Given the description of an element on the screen output the (x, y) to click on. 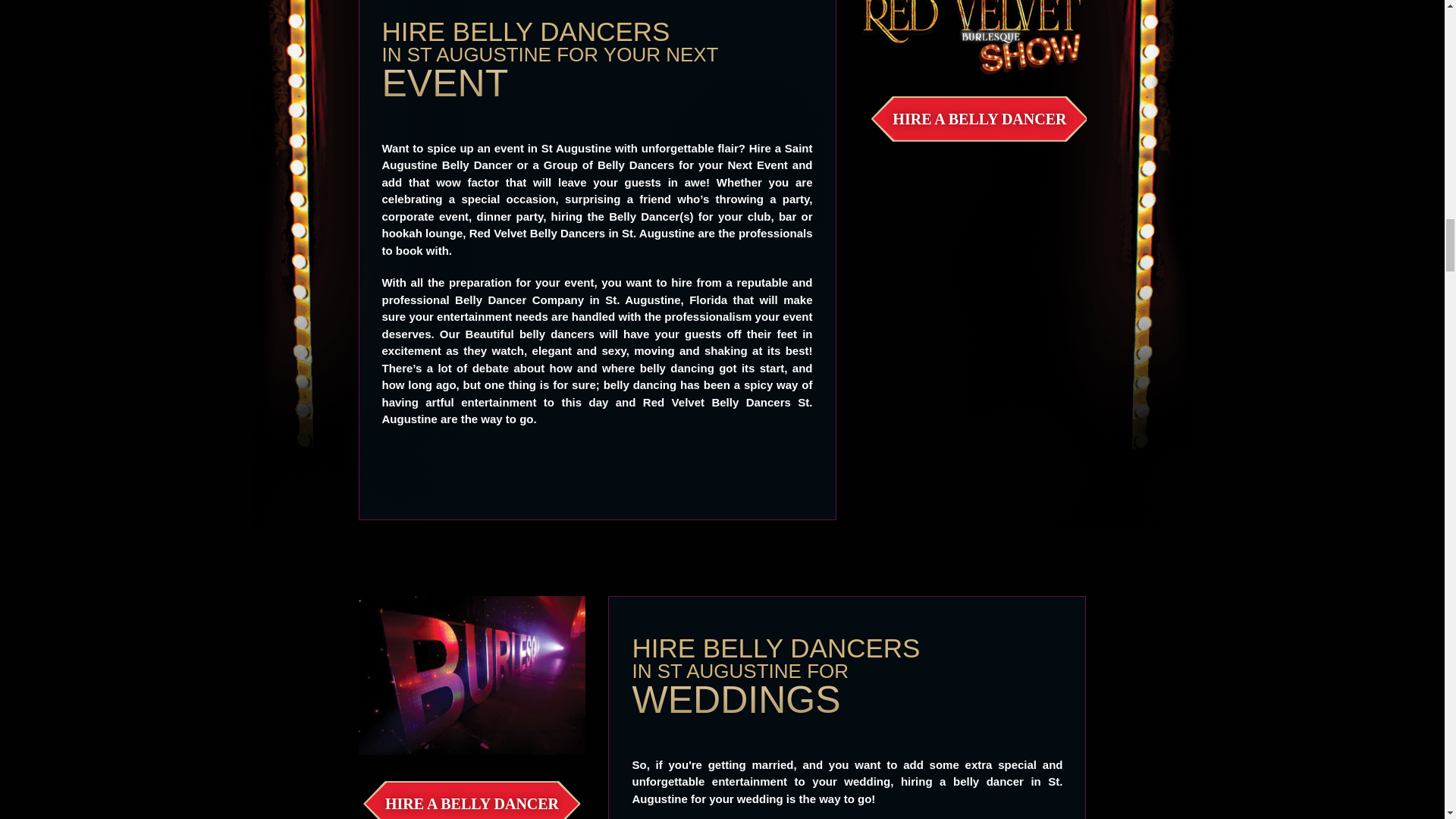
HIRE A BELLY DANCER (471, 800)
HIRE A BELLY DANCER (979, 118)
